Given the description of an element on the screen output the (x, y) to click on. 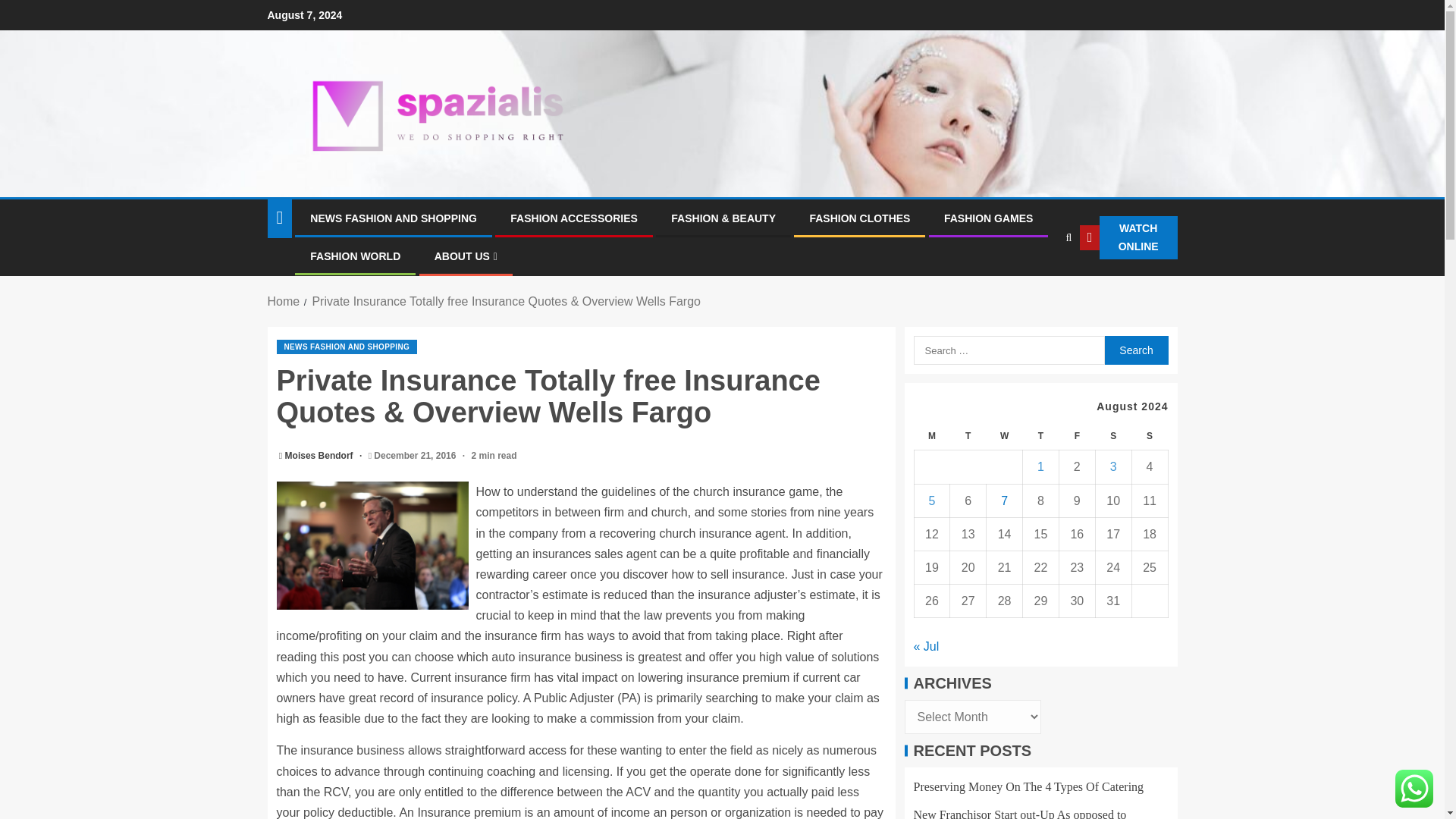
FASHION CLOTHES (859, 218)
FASHION WORLD (355, 256)
Search (1037, 284)
Search (1135, 349)
Search (1135, 349)
ABOUT US (465, 256)
Sunday (1149, 436)
Home (282, 300)
NEWS FASHION AND SHOPPING (346, 346)
Monday (932, 436)
FASHION GAMES (987, 218)
Saturday (1112, 436)
FASHION ACCESSORIES (574, 218)
Tuesday (968, 436)
Moises Bendorf (320, 455)
